Given the description of an element on the screen output the (x, y) to click on. 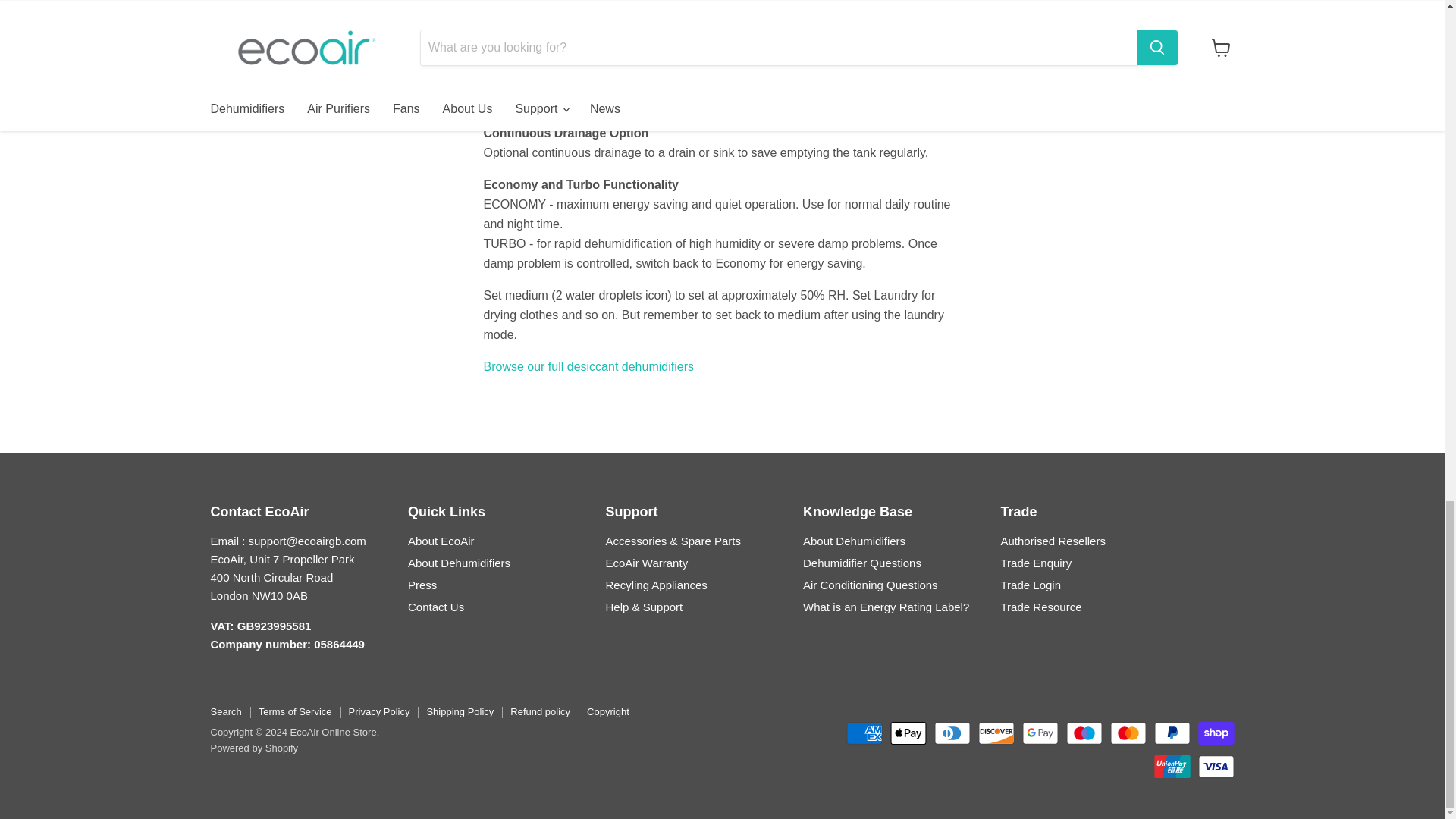
Union Pay (1172, 766)
Google Pay (1040, 732)
Apple Pay (907, 732)
Visa (1216, 766)
EcoAir Warranty (646, 562)
Contact Us (435, 606)
Shop Pay (1216, 732)
Press (421, 584)
Desiccant Dehumidifier (588, 366)
About EcoAir (440, 540)
